Given the description of an element on the screen output the (x, y) to click on. 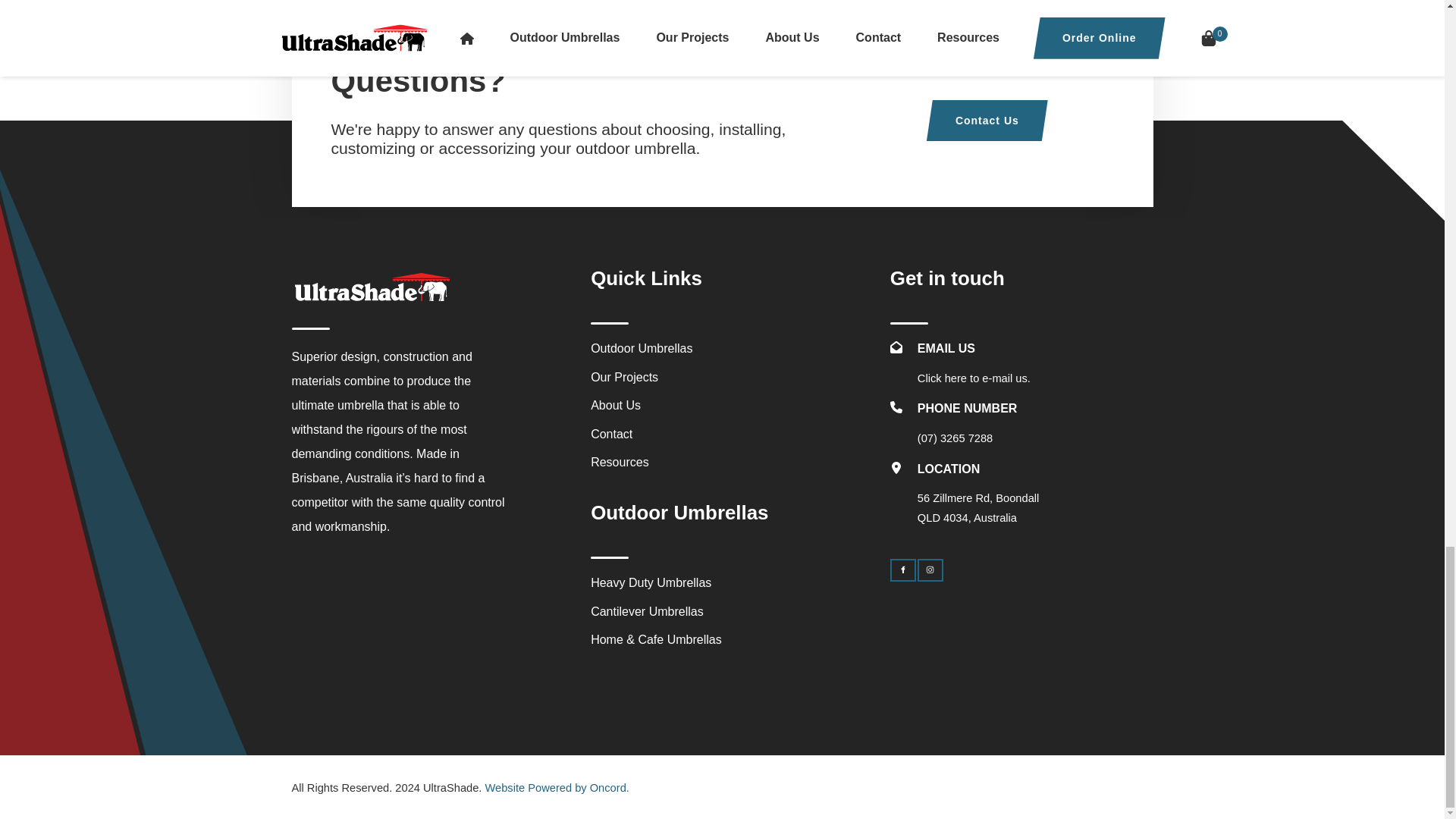
Heavy Duty Umbrellas (651, 582)
Contact (611, 433)
Our Projects (624, 377)
Website Powered by Oncord. (556, 787)
Cantilever Umbrellas (647, 611)
About Us (615, 404)
Facebook (902, 569)
Outdoor Umbrellas (642, 348)
Click here to e-mail us. (973, 377)
Contact Us (987, 120)
Resources (619, 461)
Instagram (930, 569)
